Given the description of an element on the screen output the (x, y) to click on. 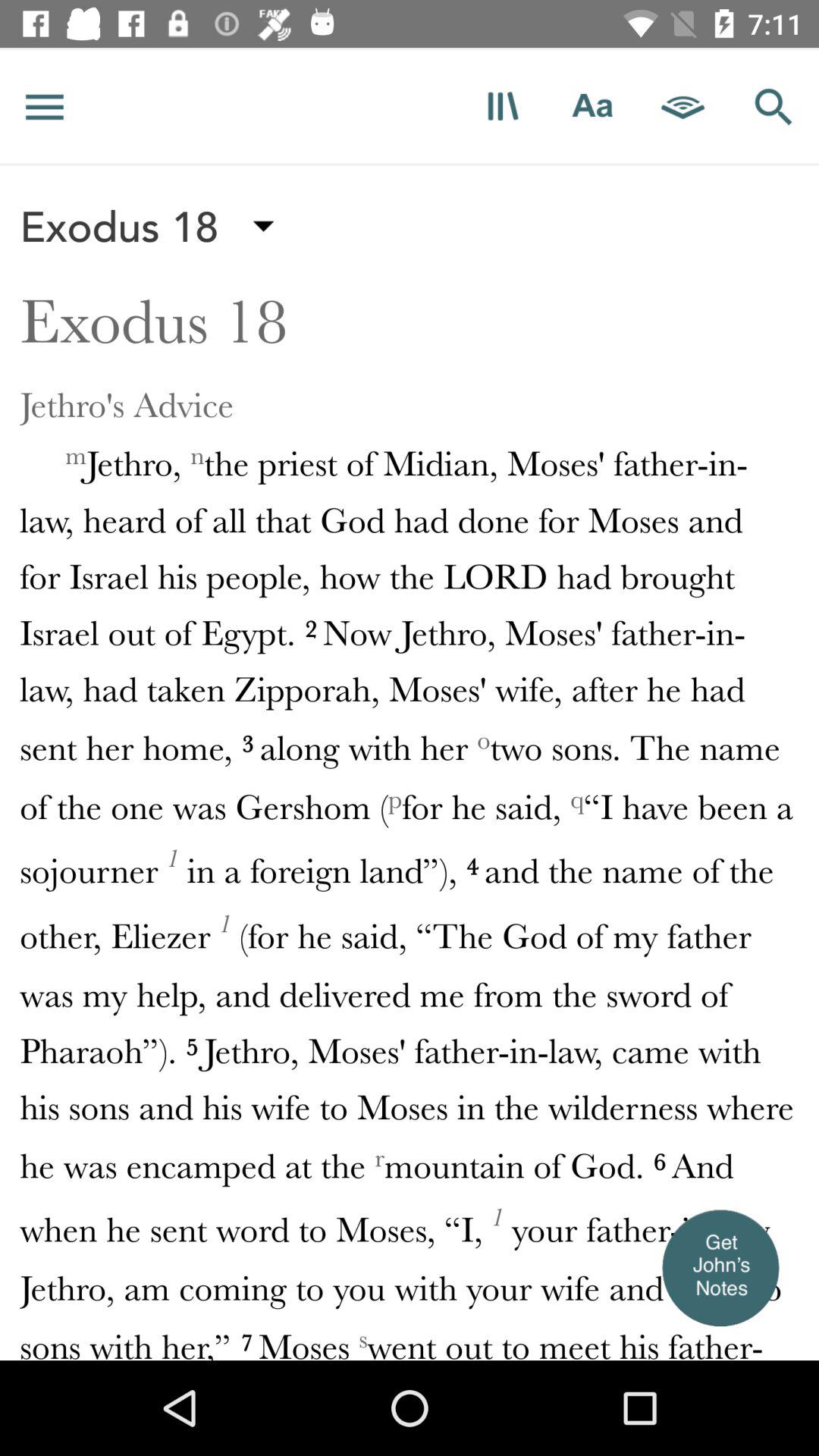
read scripture (502, 106)
